Given the description of an element on the screen output the (x, y) to click on. 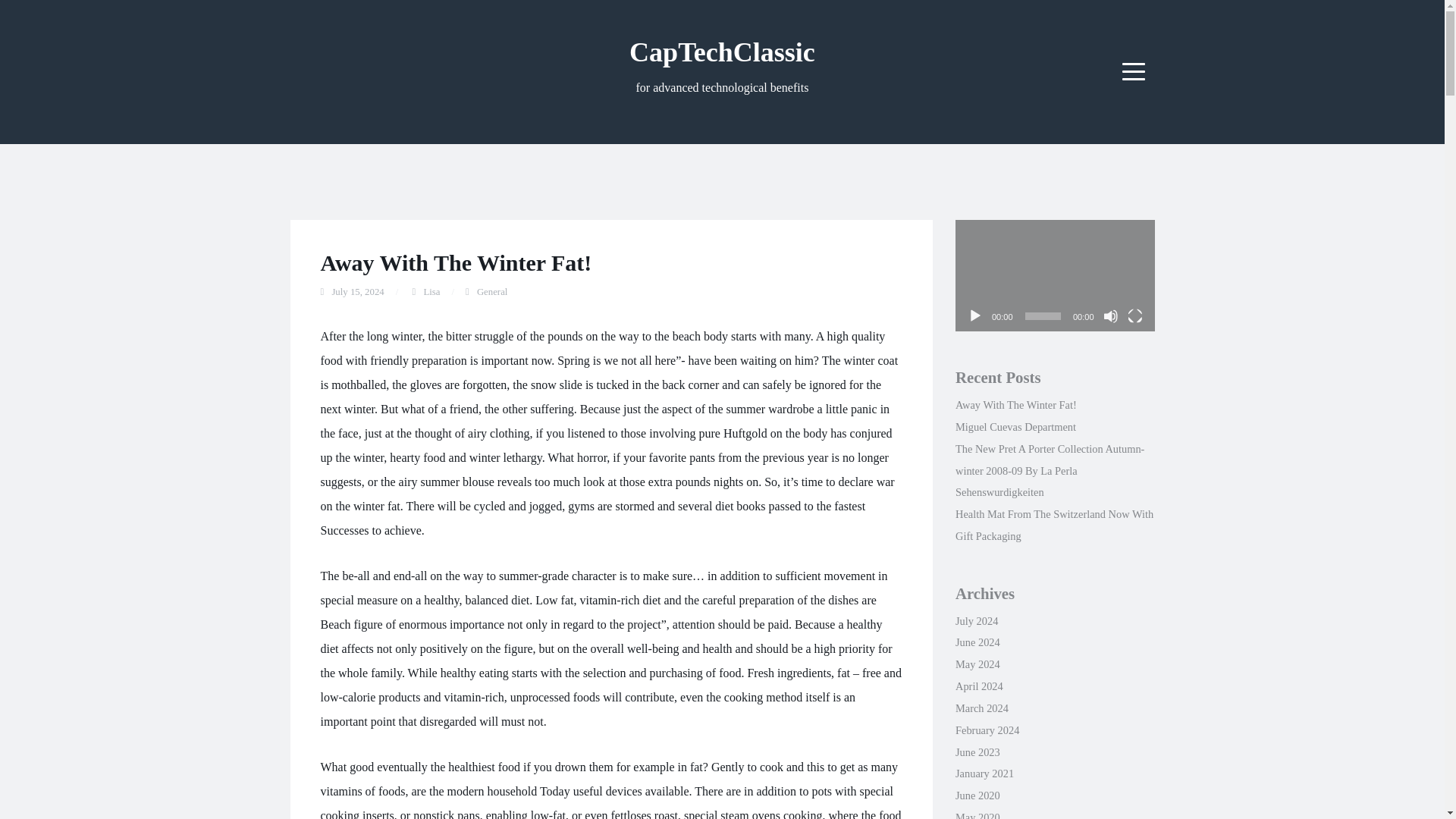
Menu (1133, 71)
Away With The Winter Fat! (455, 262)
General (492, 291)
Mute (1110, 315)
CapTechClassic (721, 51)
Lisa (431, 291)
July 15, 2024 (357, 291)
Play (975, 315)
Fullscreen (1133, 315)
